Given the description of an element on the screen output the (x, y) to click on. 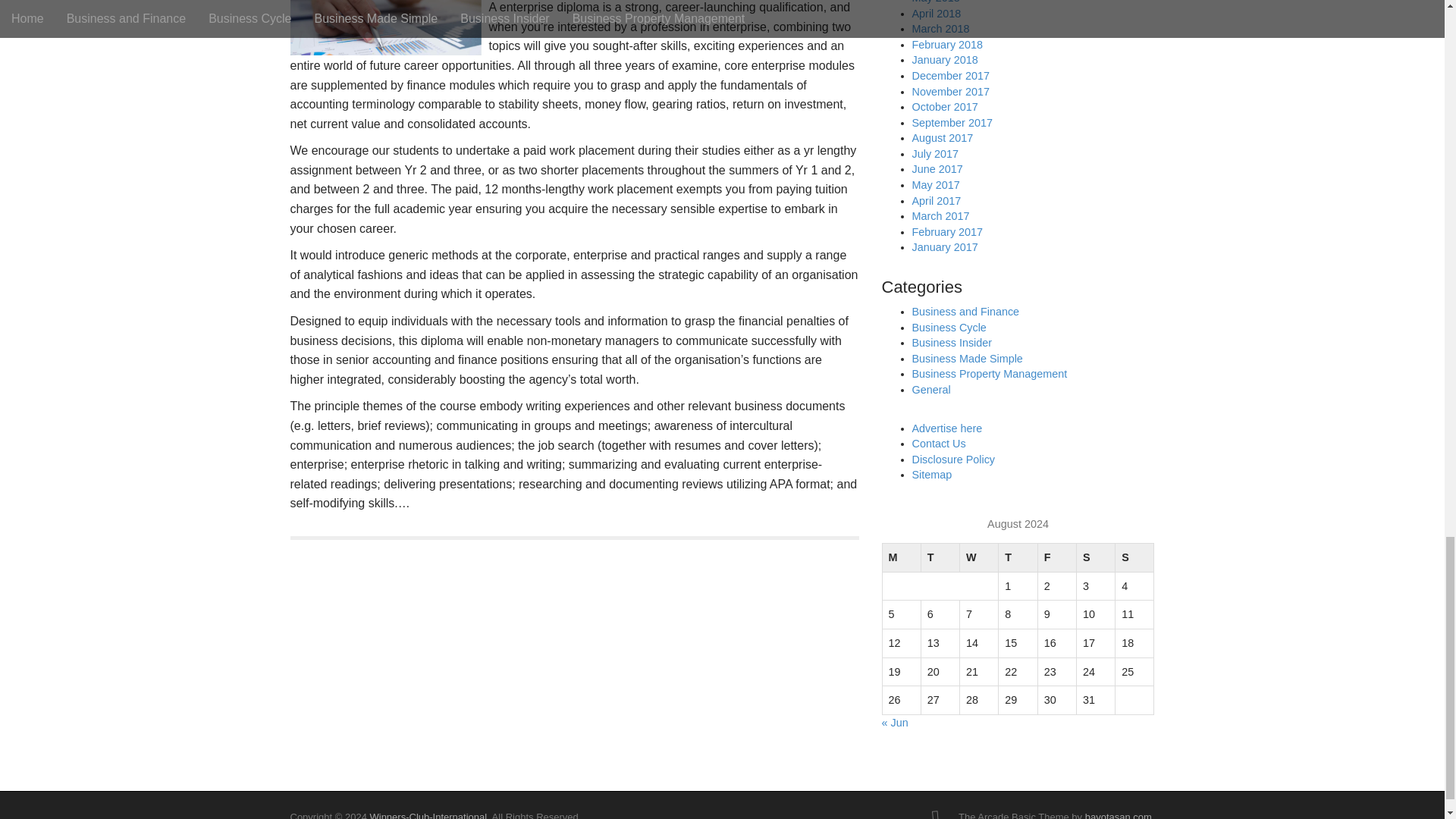
Saturday (1095, 557)
Wednesday (978, 557)
Sunday (1134, 557)
Monday (901, 557)
Friday (1055, 557)
Tuesday (939, 557)
Thursday (1017, 557)
